Given the description of an element on the screen output the (x, y) to click on. 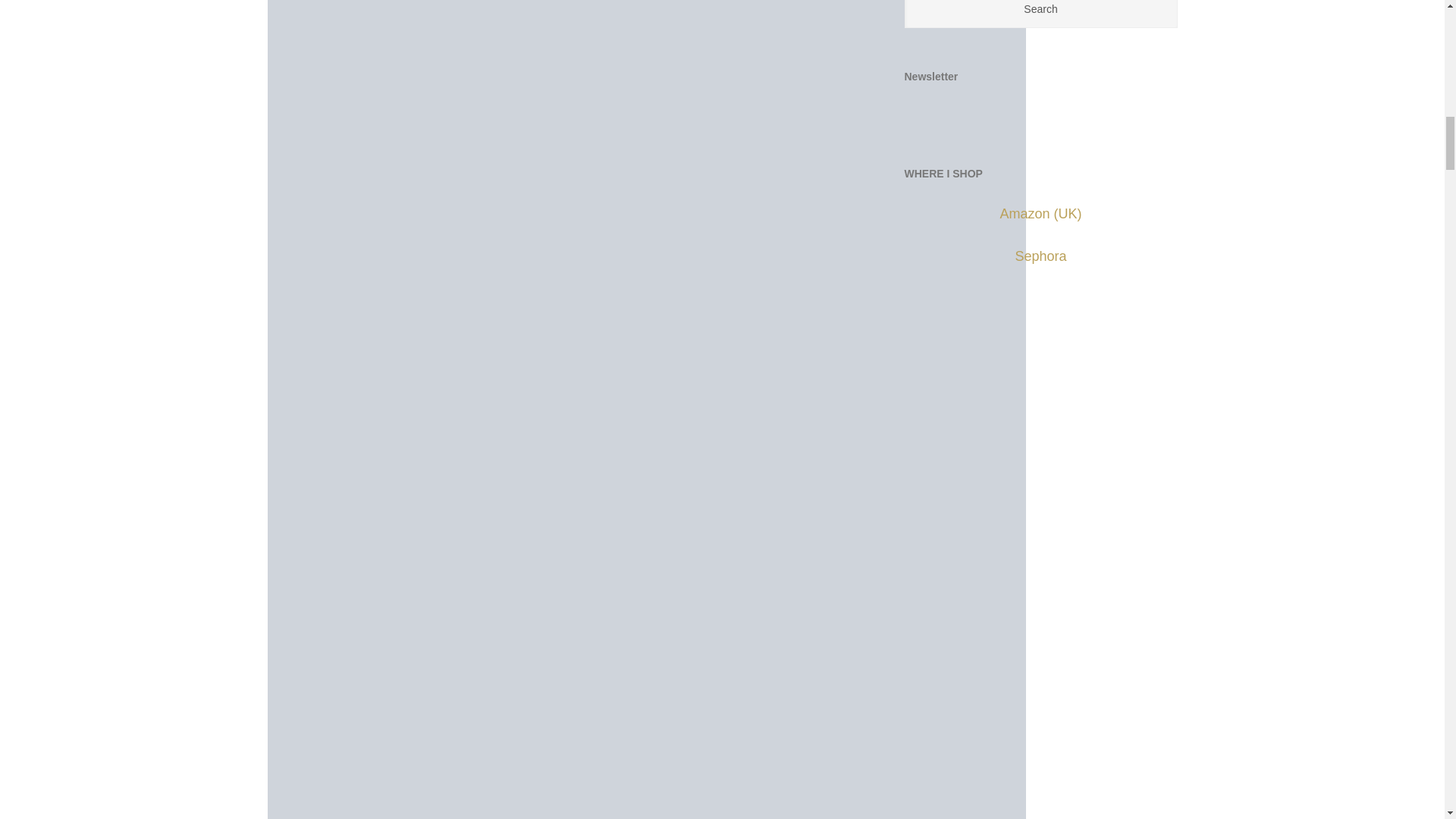
Search (1040, 13)
Search (1040, 13)
